Given the description of an element on the screen output the (x, y) to click on. 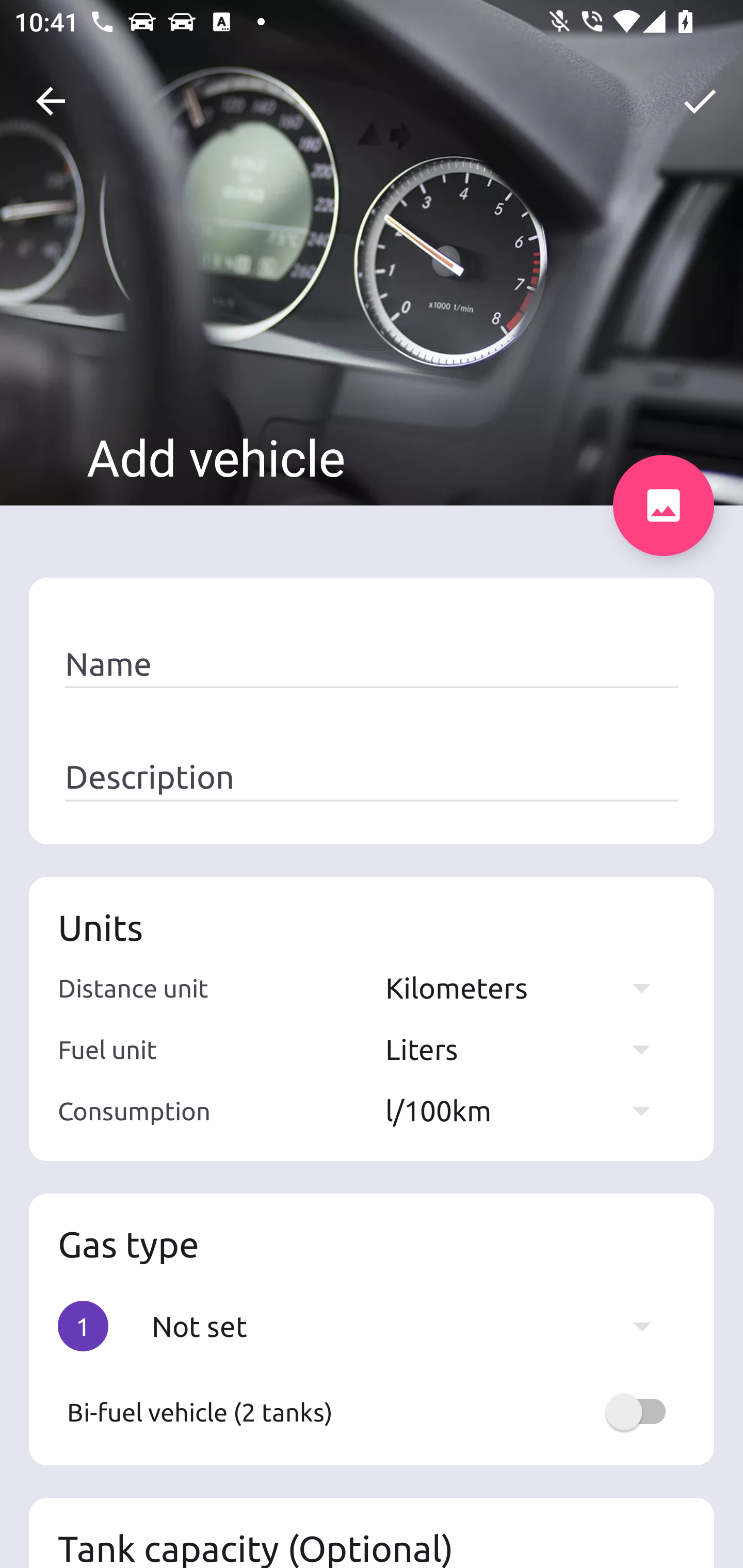
Navigate up (50, 101)
OK (699, 101)
Name (371, 664)
Description (371, 777)
Kilometers (527, 987)
Liters (527, 1048)
l/100km (527, 1110)
Not set (411, 1325)
Bi-fuel vehicle (2 tanks) (371, 1411)
